Given the description of an element on the screen output the (x, y) to click on. 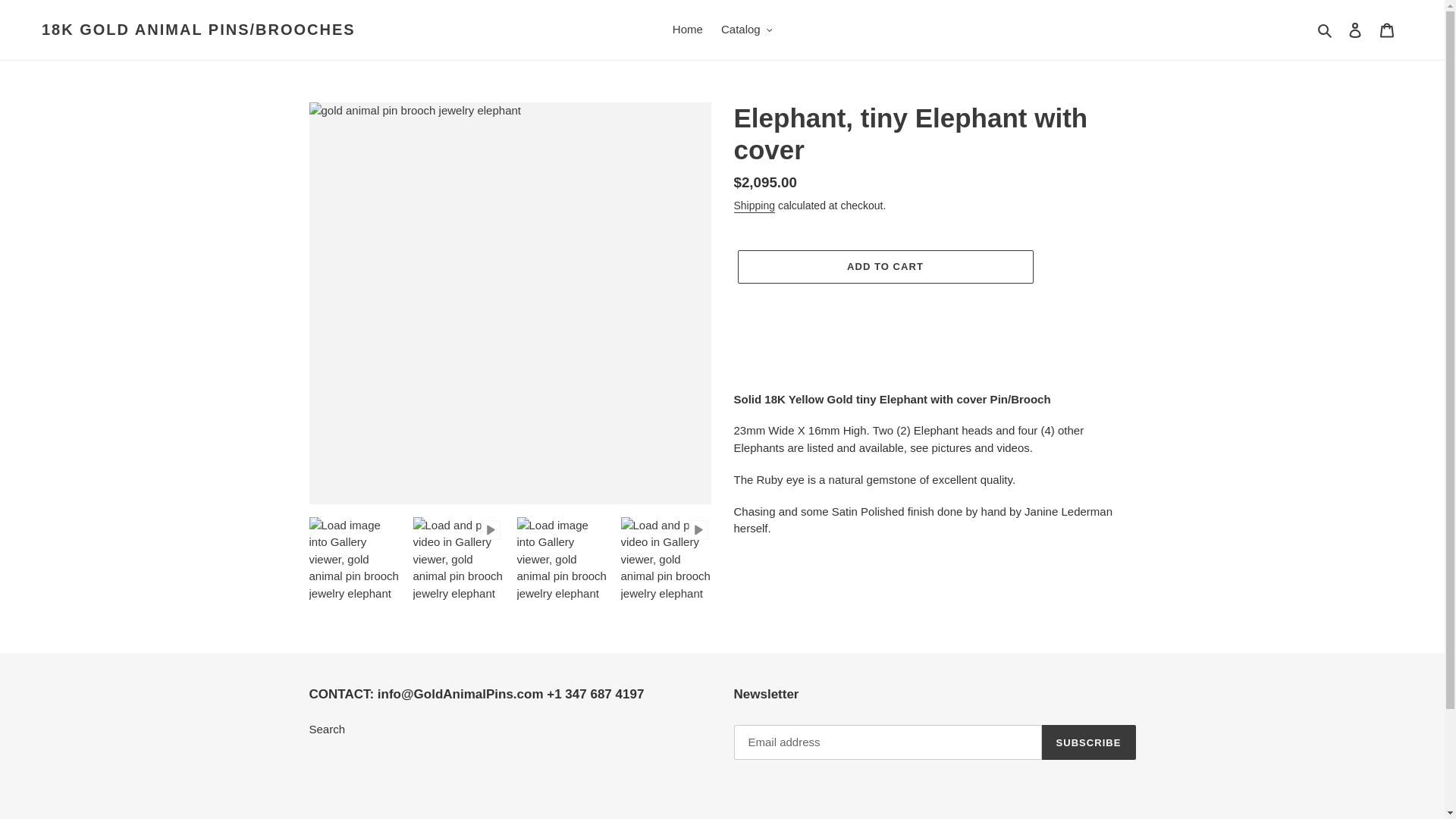
Cart (1387, 29)
Catalog (745, 29)
Log in (1355, 29)
Home (687, 29)
Search (1326, 29)
